Given the description of an element on the screen output the (x, y) to click on. 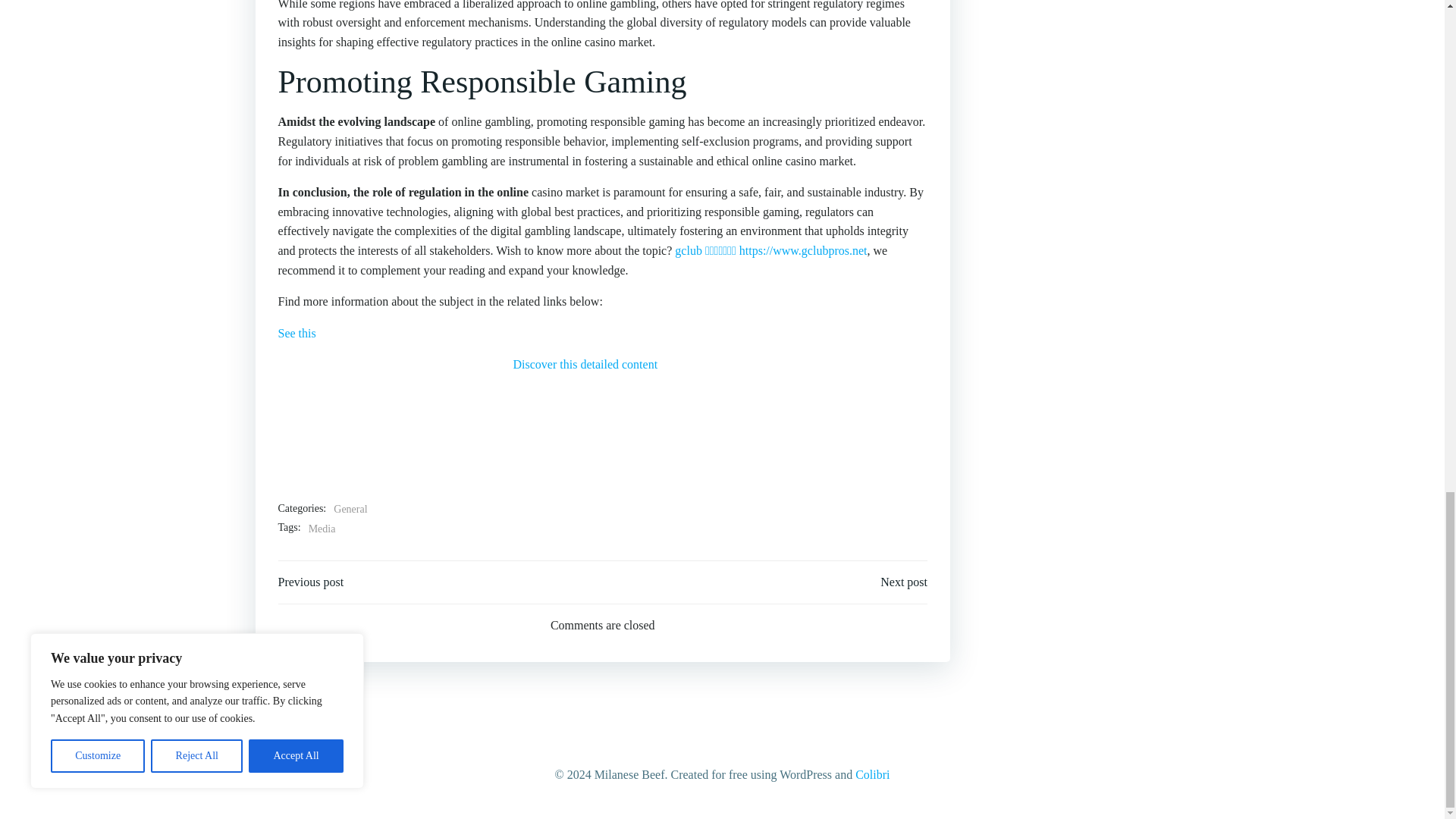
Media Tag (322, 528)
Previous post (310, 582)
Next post (903, 582)
Media (322, 528)
See this (296, 332)
General (349, 509)
Discover this detailed content (585, 364)
